Given the description of an element on the screen output the (x, y) to click on. 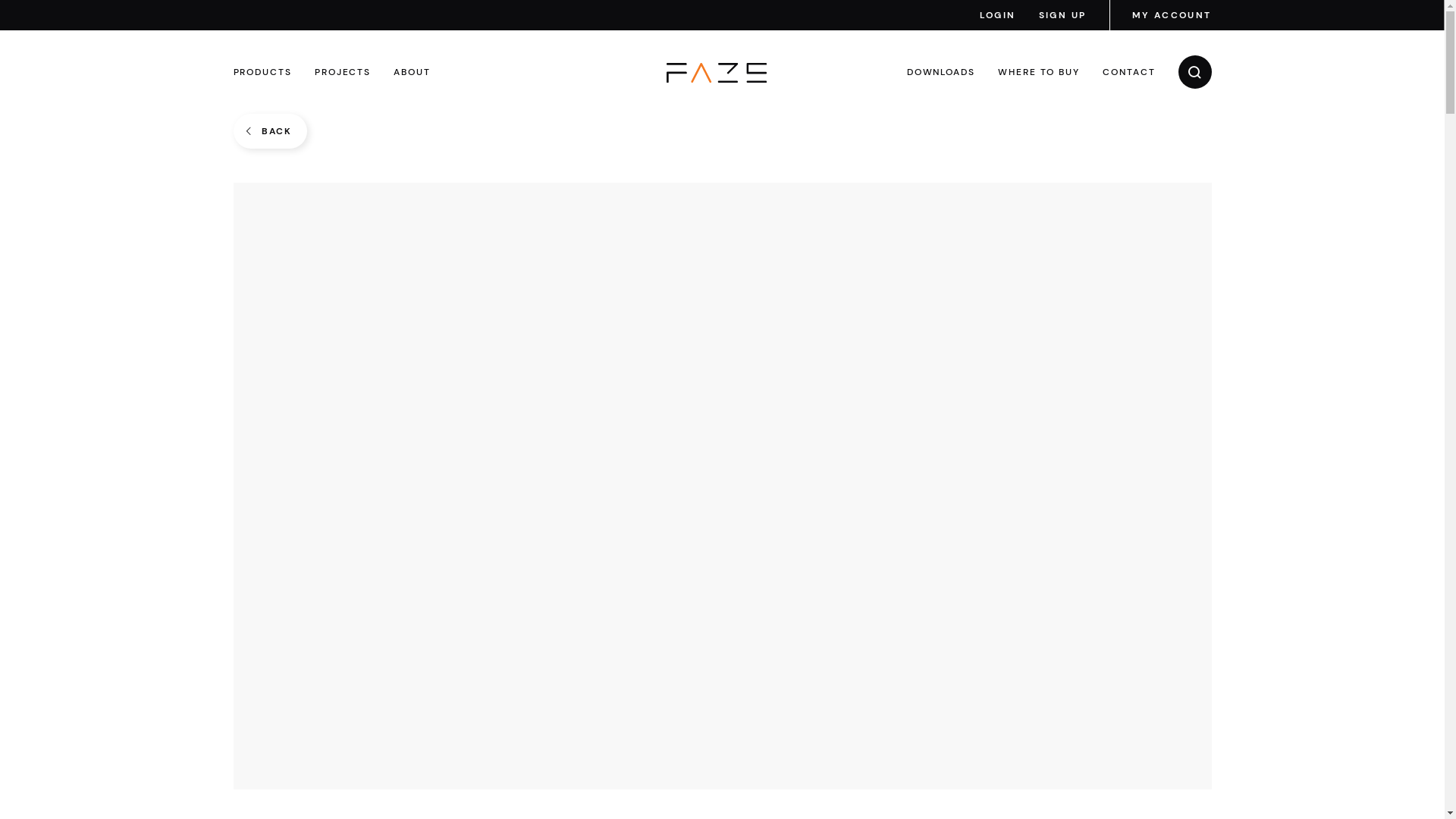
ABOUT Element type: text (411, 71)
LOGIN Element type: text (997, 14)
MY ACCOUNT Element type: text (1171, 14)
BACK Element type: text (270, 130)
WHERE TO BUY Element type: text (1038, 71)
CONTACT Element type: text (1128, 71)
DOWNLOADS Element type: text (940, 71)
SIGN UP Element type: text (1062, 14)
PRODUCTS Element type: text (262, 71)
PROJECTS Element type: text (342, 71)
